Given the description of an element on the screen output the (x, y) to click on. 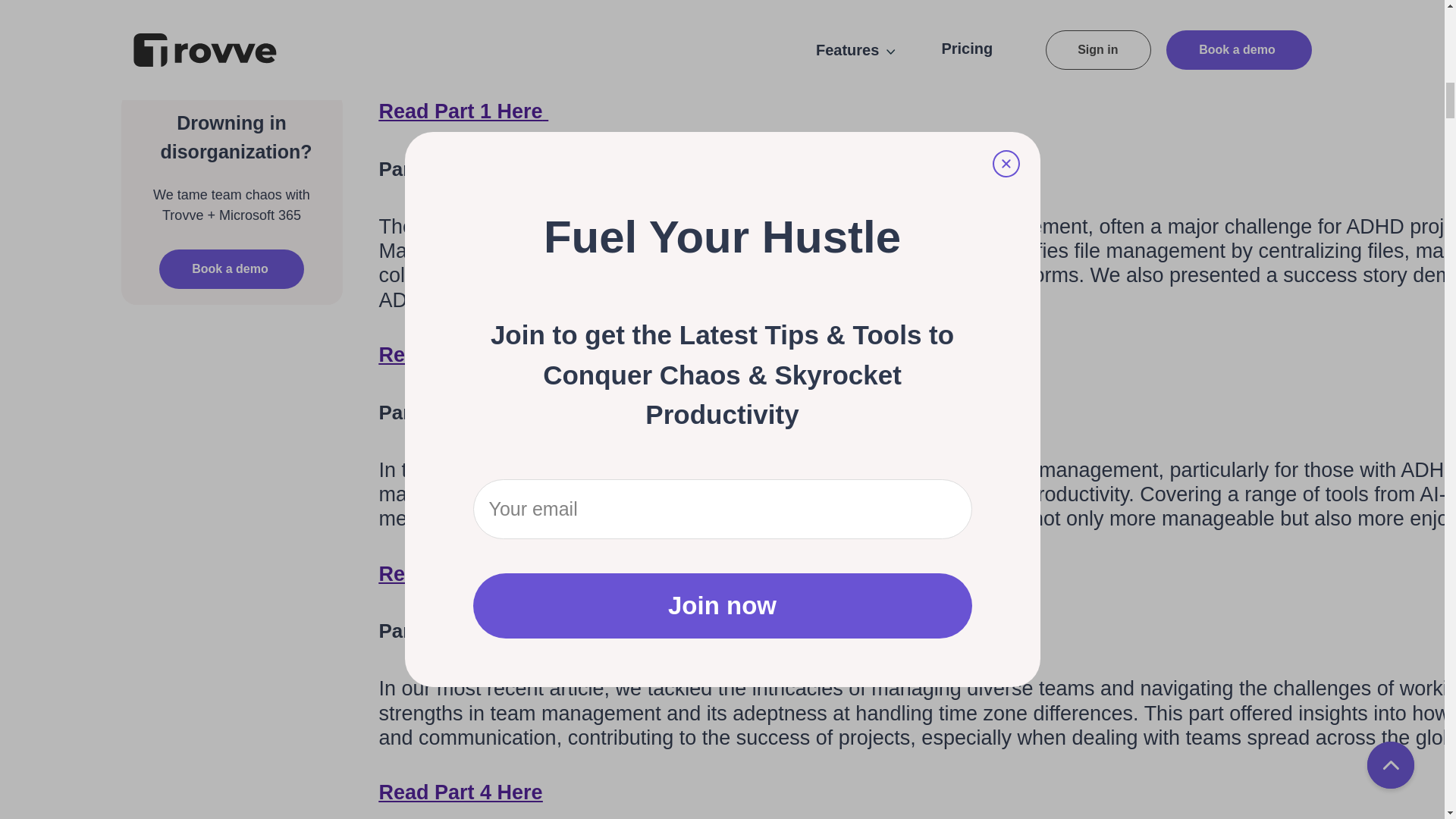
Read Part 3 Here  (463, 573)
Read Part 1 Here  (463, 110)
Read Part 4 Here (460, 792)
Read Part 2 Here  (463, 354)
